Given the description of an element on the screen output the (x, y) to click on. 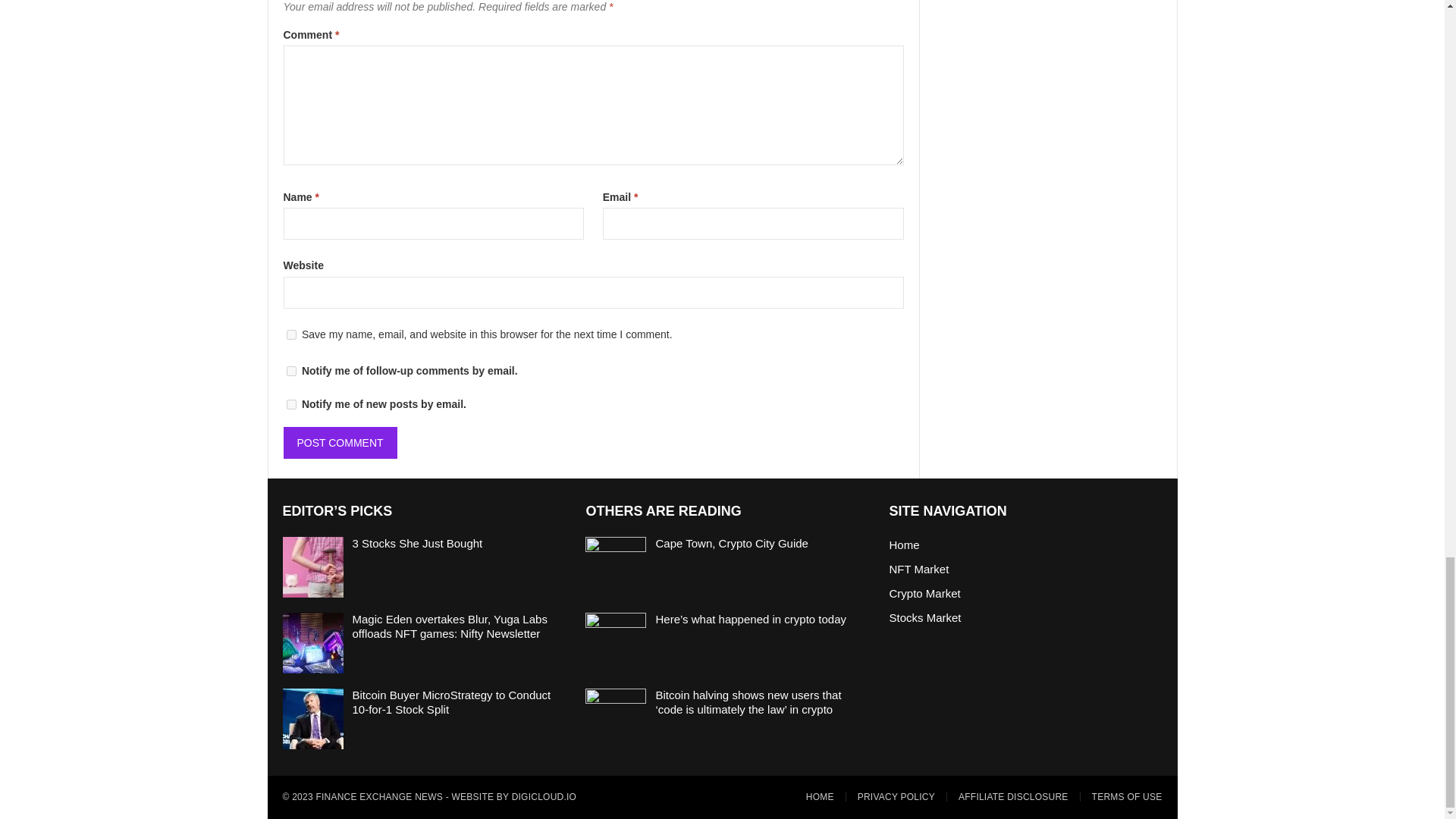
subscribe (291, 370)
subscribe (291, 404)
Post Comment (340, 442)
Post Comment (340, 442)
yes (291, 334)
